Given the description of an element on the screen output the (x, y) to click on. 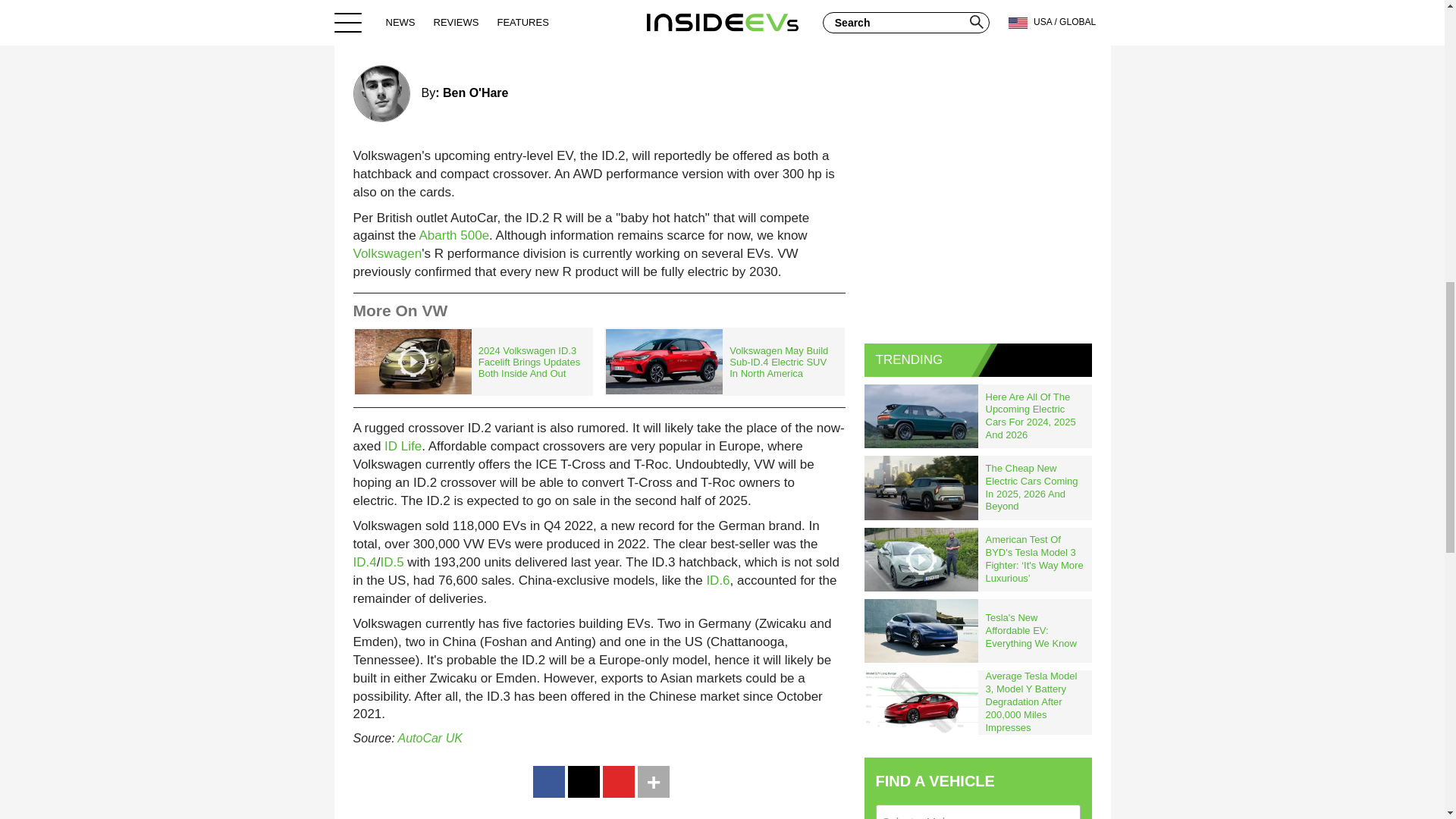
0 (826, 30)
Ben O'Hare (475, 92)
AutoCar UK (429, 738)
ID.6 (717, 580)
Volkswagen (387, 253)
ID Life (403, 445)
ID.5 (391, 562)
Abarth 500e (454, 235)
Volkswagen May Build Sub-ID.4 Electric SUV In North America (724, 361)
ID.4 (365, 562)
